Given the description of an element on the screen output the (x, y) to click on. 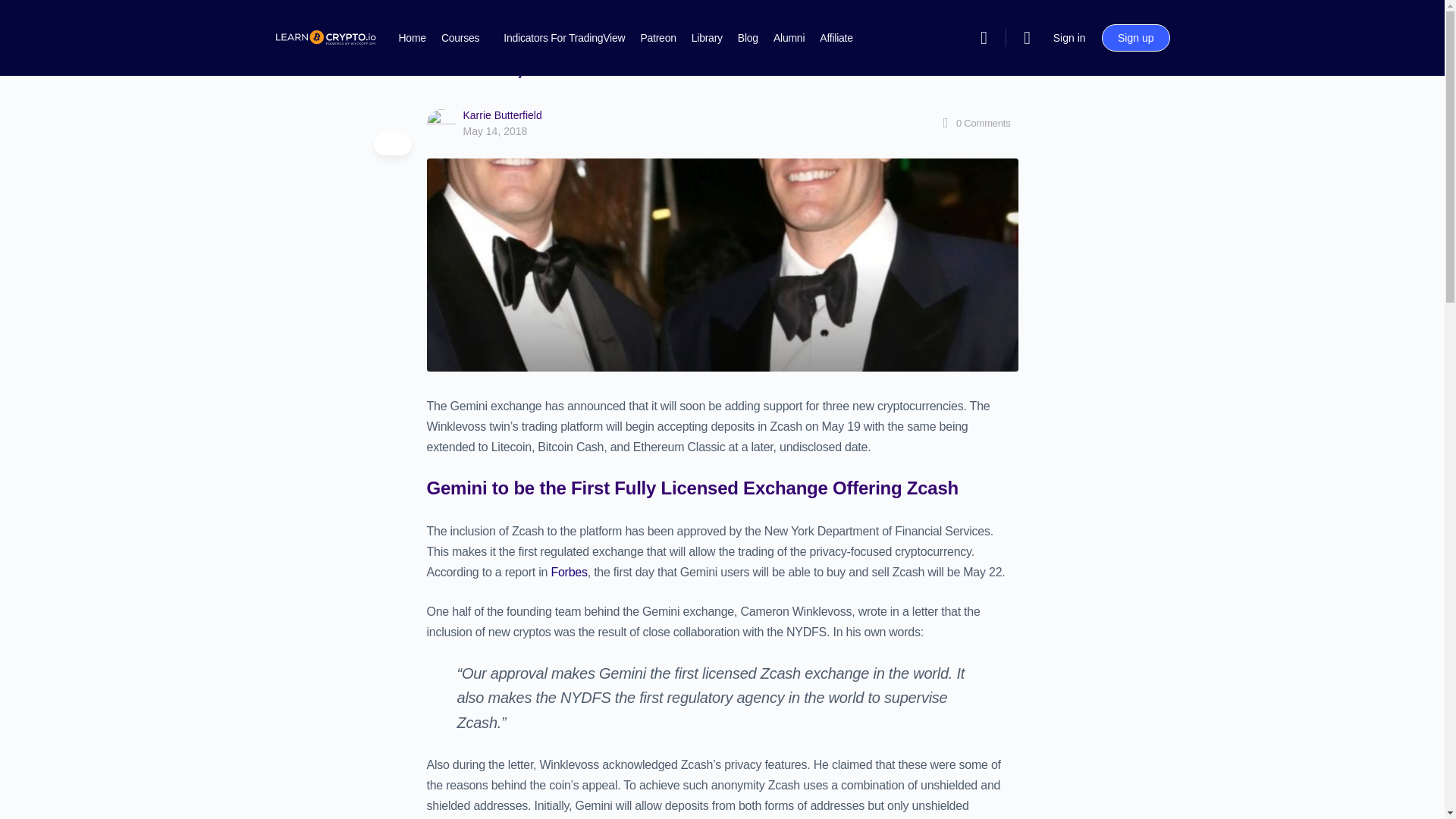
Indicators For TradingView (563, 38)
Sign in (1068, 37)
Sign up (1135, 37)
